Given the description of an element on the screen output the (x, y) to click on. 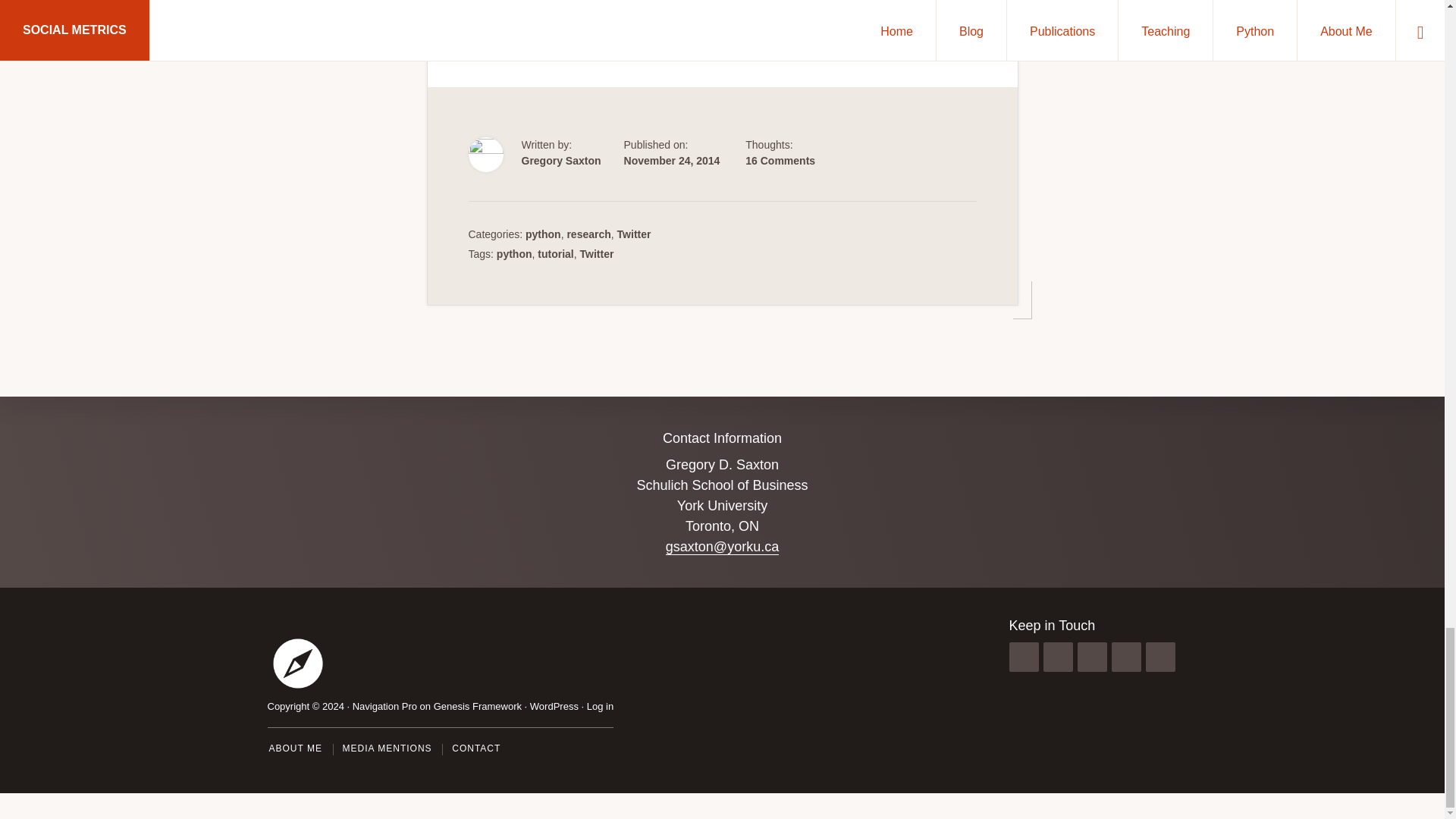
16 Comments (780, 160)
Twitter (633, 234)
Reddit (606, 11)
Email (673, 11)
Renren (651, 11)
Linkedin (585, 11)
python (514, 254)
python (542, 234)
Pinterest (562, 11)
Twitter (518, 11)
Gregory Saxton (561, 160)
Facebook (542, 11)
research (588, 234)
Sina Weibo (629, 11)
